Given the description of an element on the screen output the (x, y) to click on. 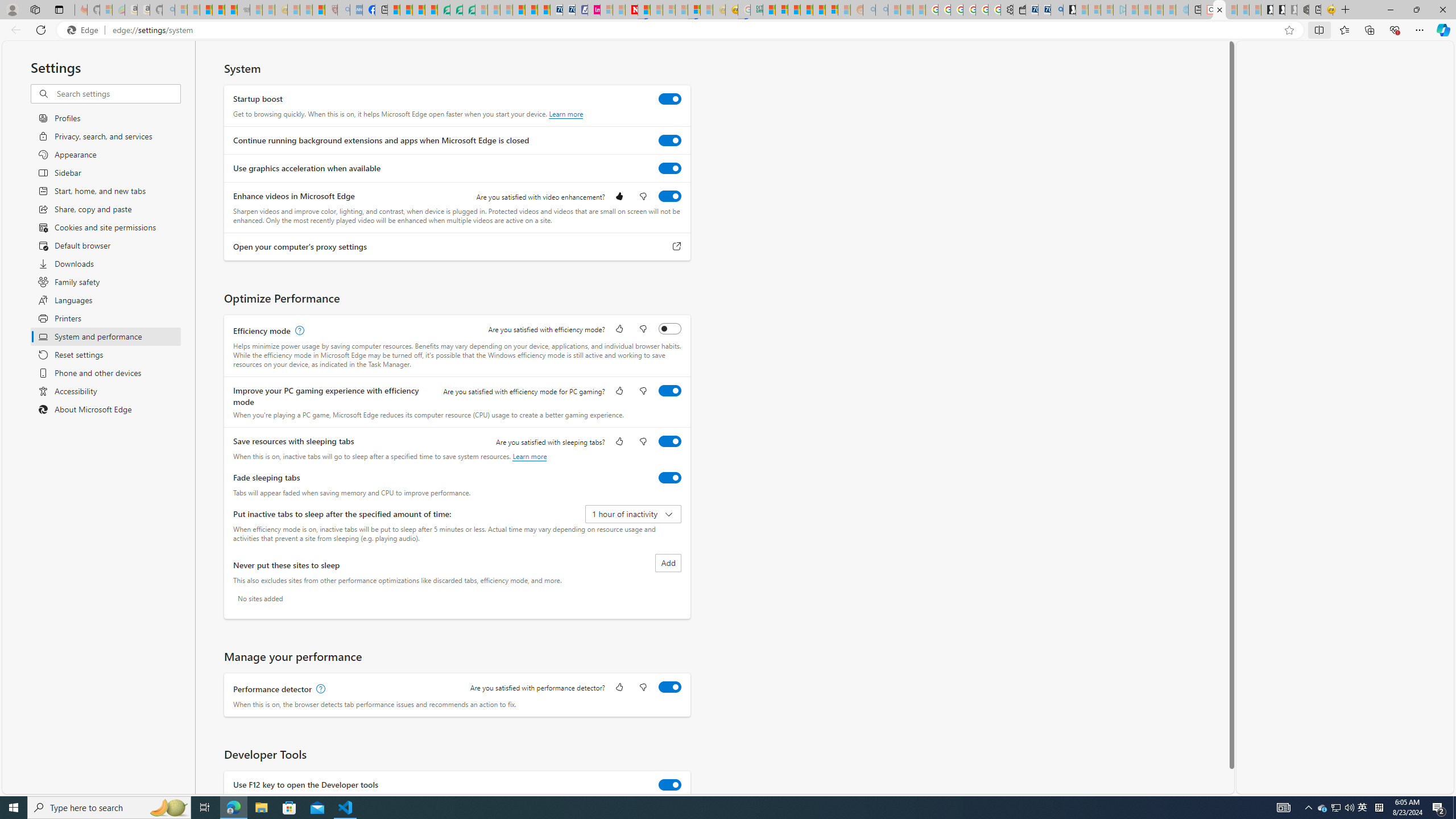
Robert H. Shmerling, MD - Harvard Health - Sleeping (331, 9)
LendingTree - Compare Lenders (443, 9)
Efficiency mode (669, 328)
Restore (1416, 9)
Refresh (40, 29)
Favorites (1344, 29)
Add site to never put these sites to sleep list (668, 562)
Learn more (529, 456)
Microsoft Start - Sleeping (1156, 9)
Collections (1369, 29)
Close tab (1219, 9)
